Given the description of an element on the screen output the (x, y) to click on. 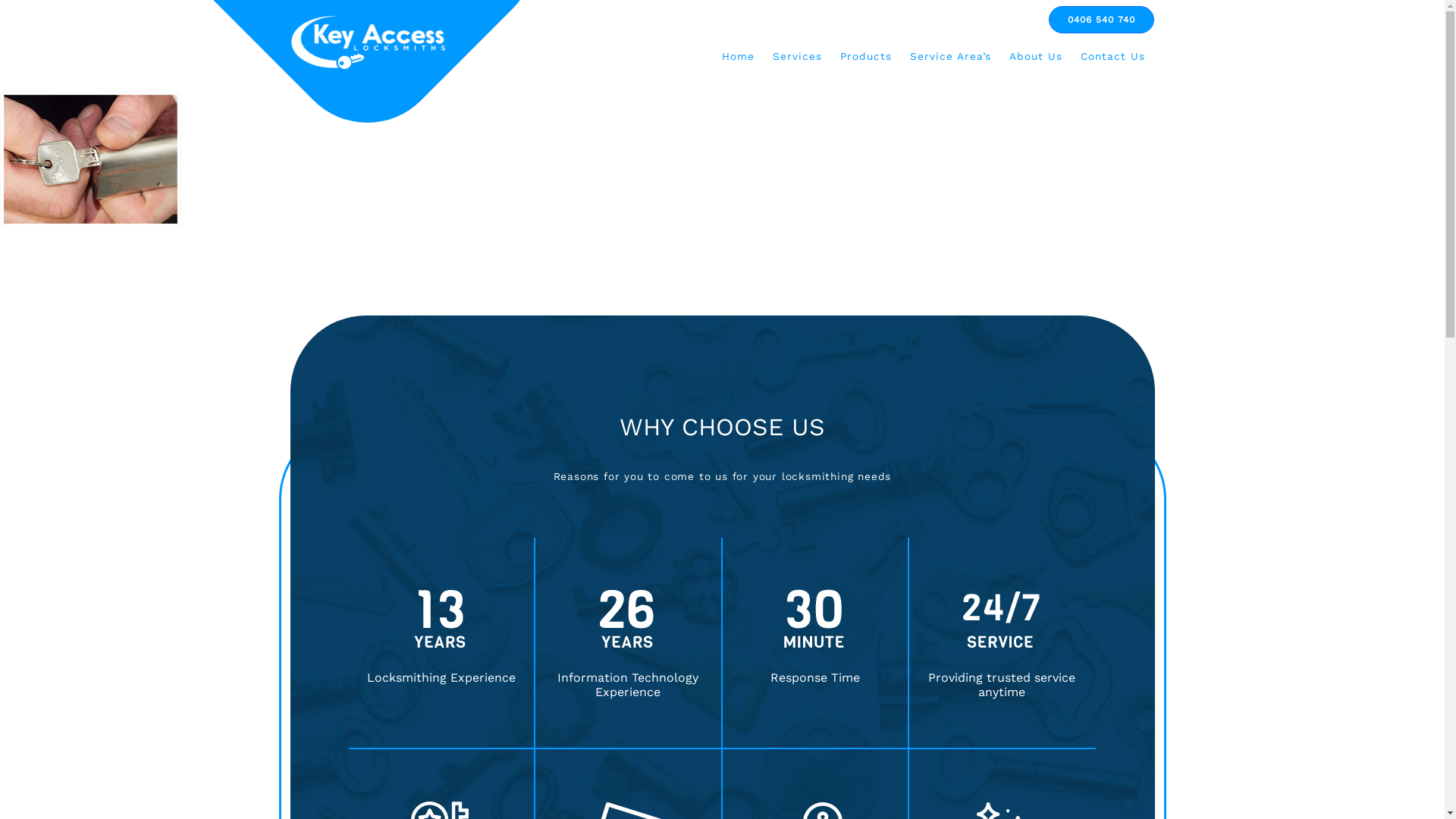
Home Element type: text (737, 55)
Contact Us Element type: text (1111, 55)
0406 540 740 Element type: text (1100, 19)
Services Element type: text (796, 55)
About Us Element type: text (1034, 55)
Products Element type: text (865, 55)
